Given the description of an element on the screen output the (x, y) to click on. 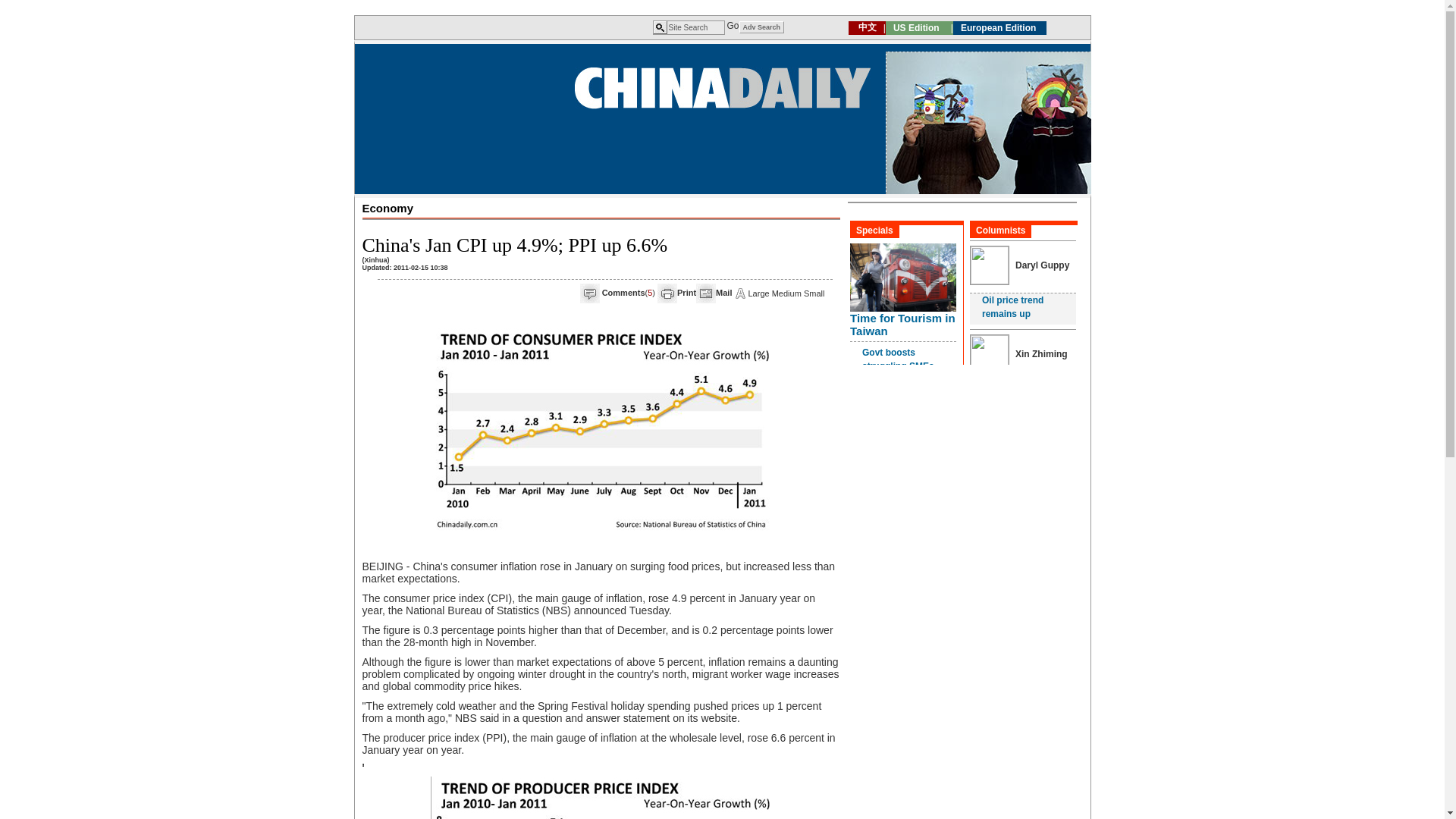
Mail (724, 292)
Large (758, 293)
Small (814, 293)
Print (686, 292)
Medium (786, 293)
